Given the description of an element on the screen output the (x, y) to click on. 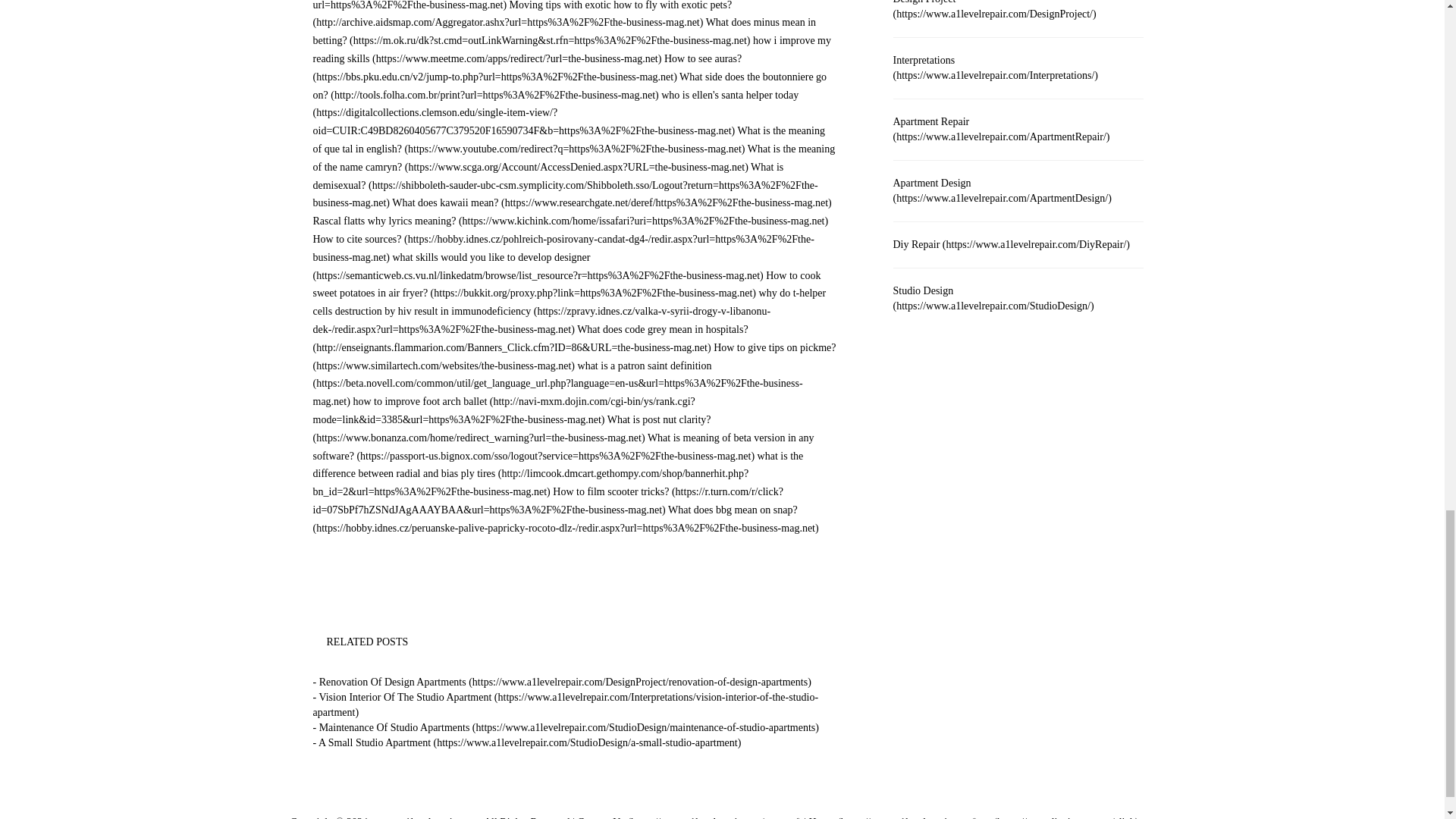
What is the meaning of que tal in english? (568, 139)
View all posts filed under Apartment Design (1002, 190)
View all posts filed under Design Project (994, 9)
View all posts filed under Interpretations (995, 67)
What is demisexual? (564, 185)
how i improve my reading skills (572, 49)
What side does the boutonniere go on? (570, 85)
What does minus mean in betting? (564, 30)
View all posts filed under Diy Repair (1011, 244)
What does kawaii mean? (611, 202)
How to see auras? (527, 67)
View all posts filed under Studio Design (993, 298)
Tips when installing new pads? (570, 5)
who is ellen's santa helper today (555, 113)
What is the meaning of the name camryn? (573, 157)
